Given the description of an element on the screen output the (x, y) to click on. 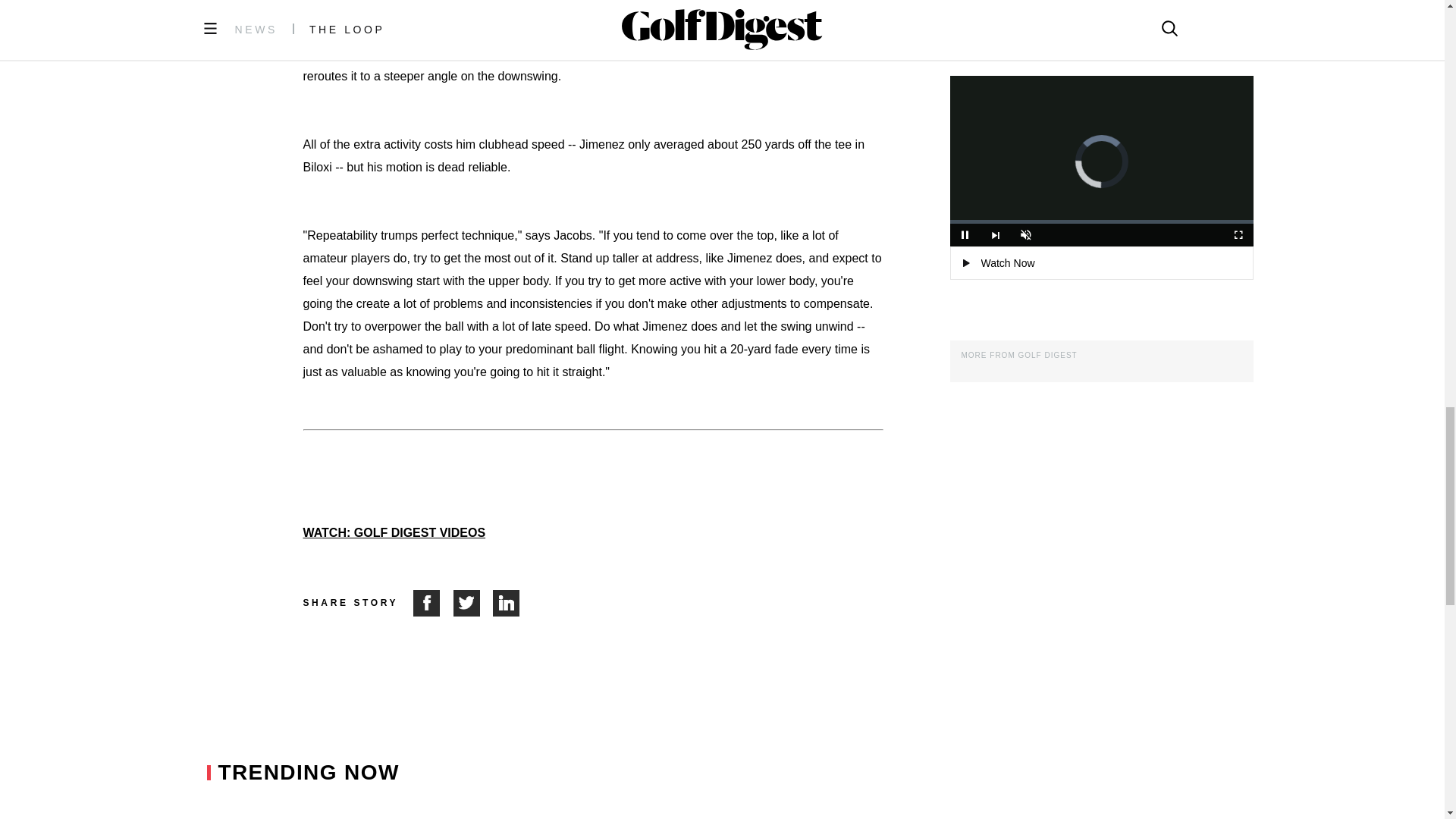
Share on LinkedIn (506, 602)
Share on Facebook (432, 602)
Share on Twitter (472, 602)
